Given the description of an element on the screen output the (x, y) to click on. 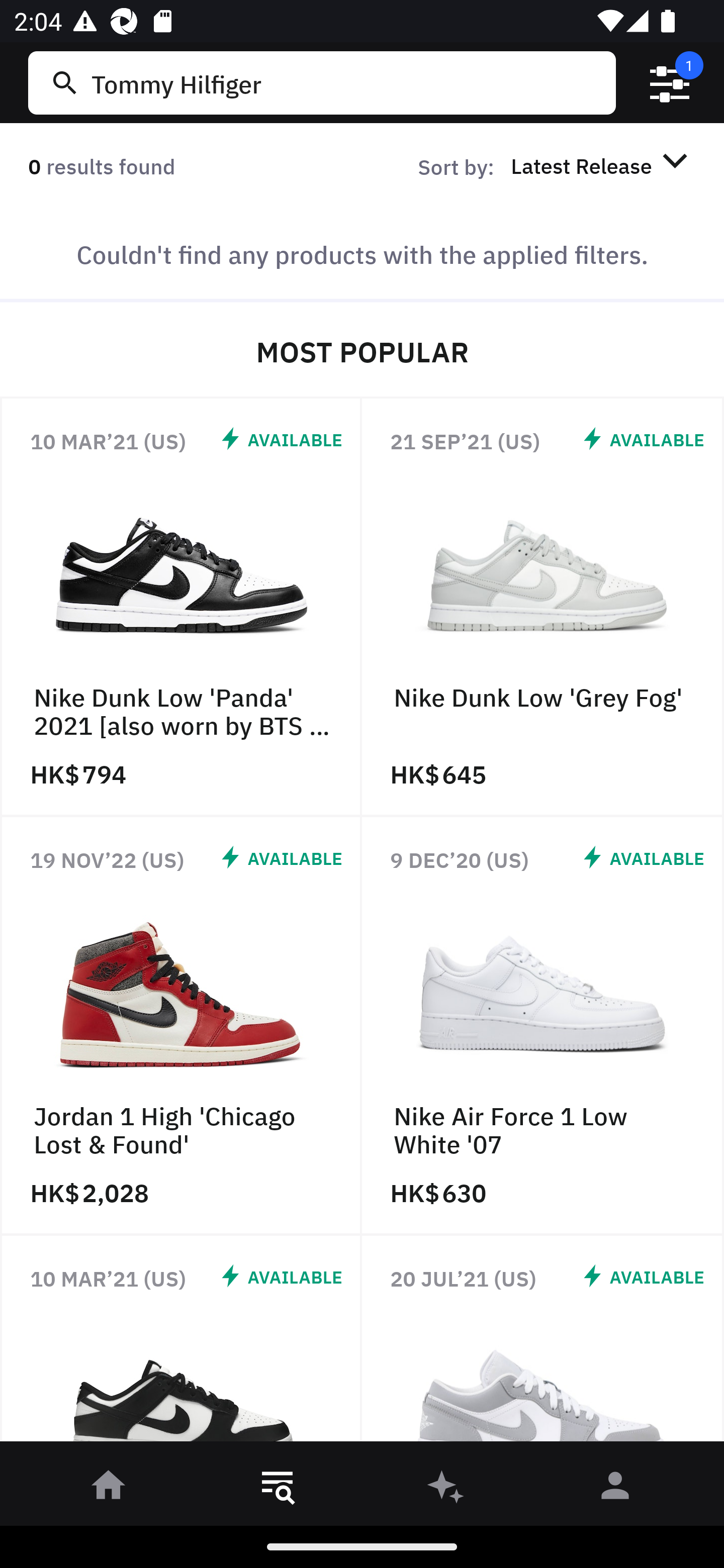
Tommy Hilfiger (349, 82)
 (669, 82)
Latest Release  (602, 165)
10 MAR’21 (US)  AVAILABLE (181, 1343)
20 JUL’21 (US)  AVAILABLE (543, 1343)
󰋜 (108, 1488)
󱎸 (277, 1488)
󰫢 (446, 1488)
󰀄 (615, 1488)
